Given the description of an element on the screen output the (x, y) to click on. 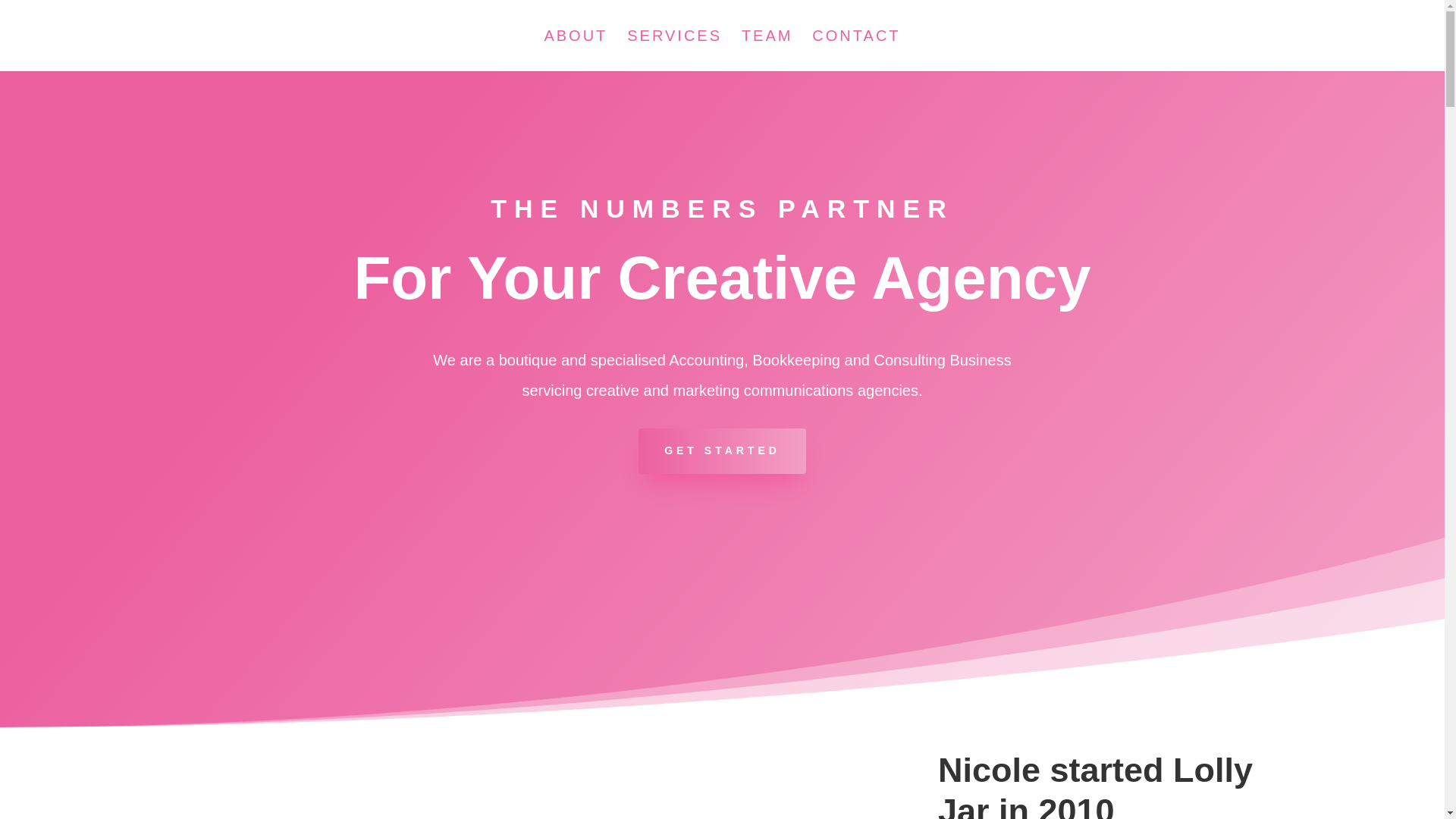
CONTACT Element type: text (856, 50)
SERVICES Element type: text (674, 50)
GET STARTED Element type: text (722, 450)
TEAM Element type: text (767, 50)
ABOUT Element type: text (575, 50)
